Given the description of an element on the screen output the (x, y) to click on. 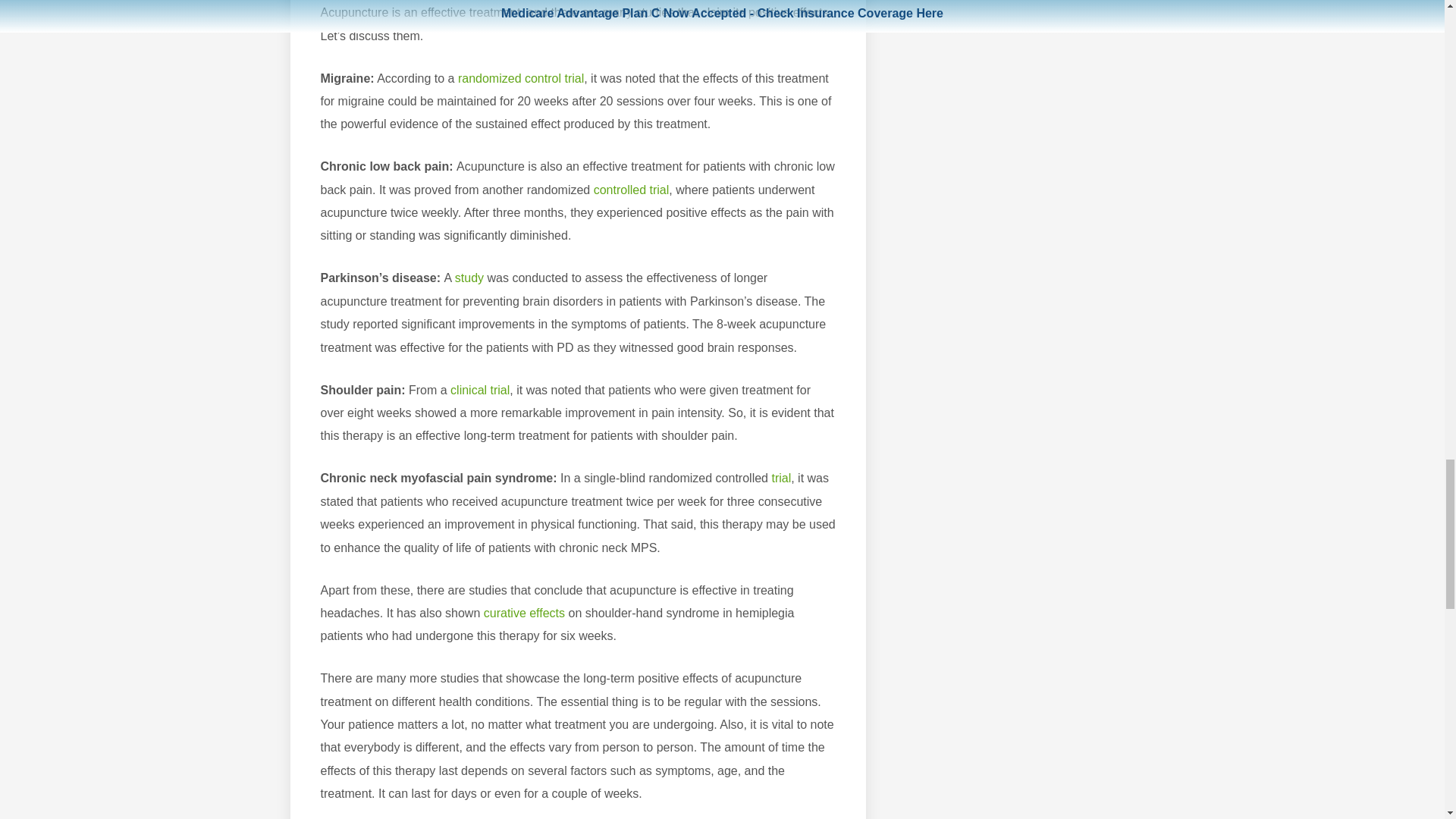
study (468, 277)
controlled trial (631, 189)
randomized control trial (520, 78)
